Given the description of an element on the screen output the (x, y) to click on. 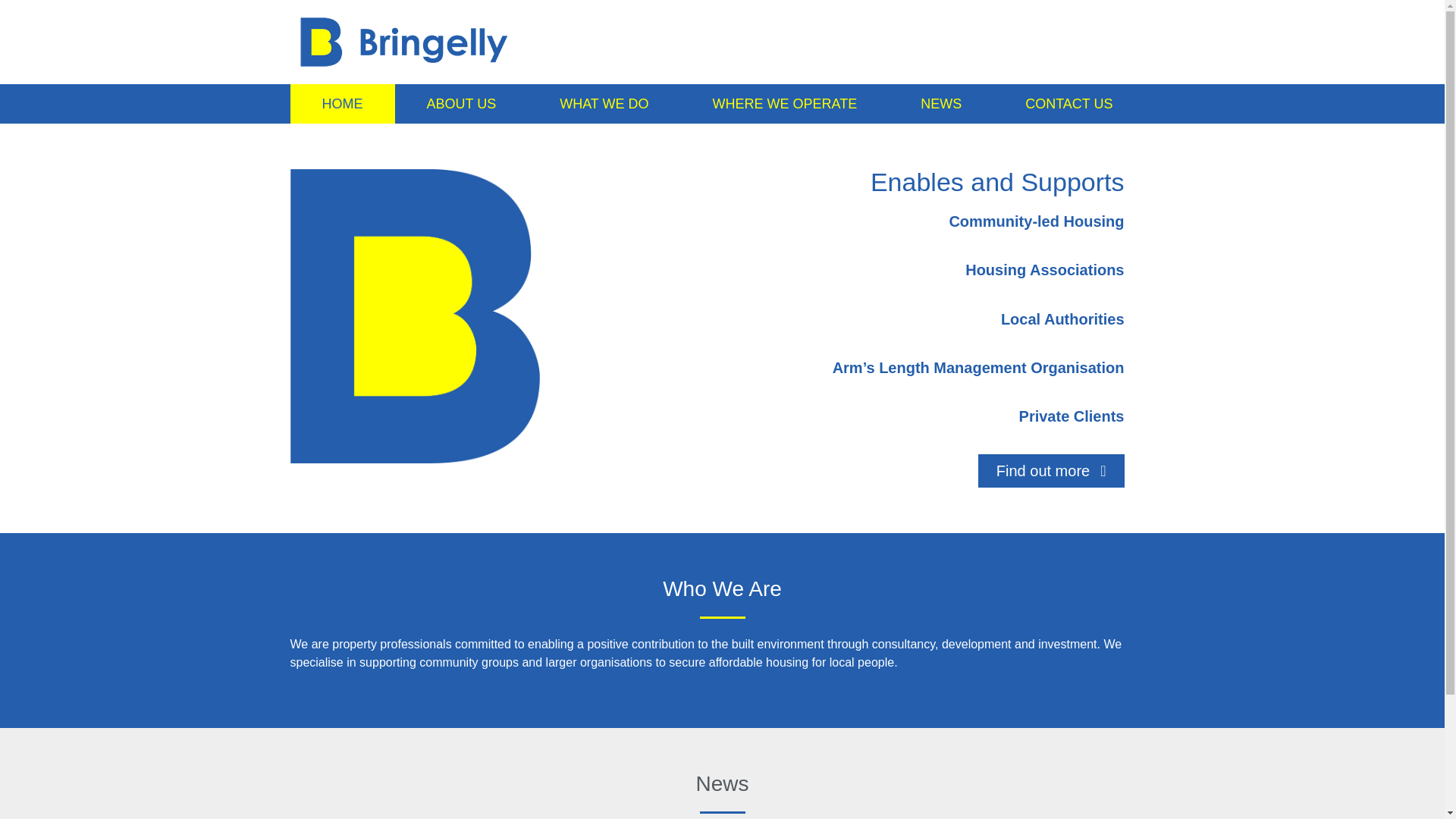
Find out more (1051, 470)
ABOUT US (460, 103)
WHERE WE OPERATE (785, 103)
NEWS (940, 103)
WHAT WE DO (603, 103)
HOME (341, 103)
CONTACT US (1068, 103)
